Given the description of an element on the screen output the (x, y) to click on. 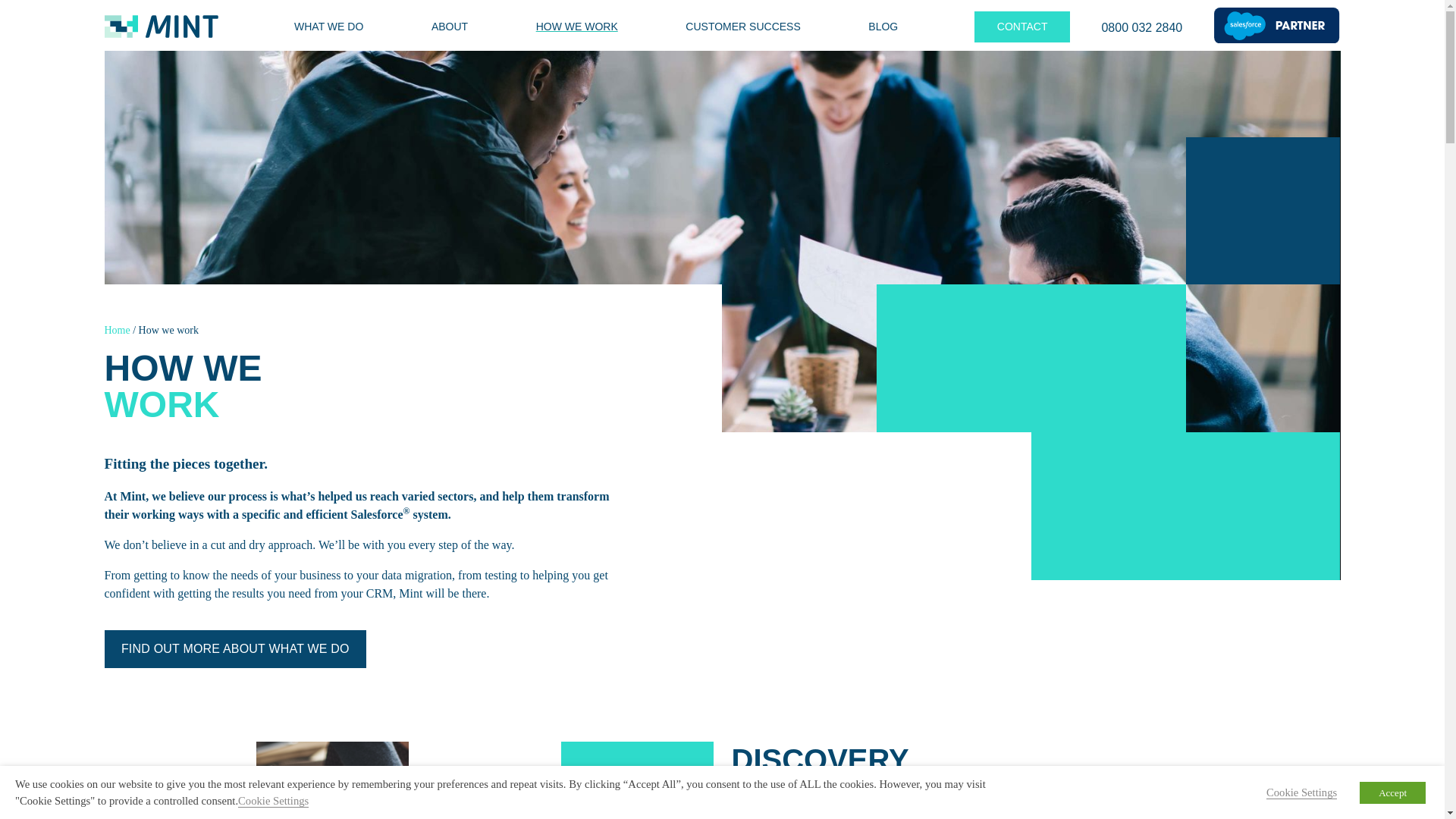
BLOG (882, 26)
CUSTOMER SUCCESS (742, 26)
0800 032 2840 (1141, 23)
WHAT WE DO (328, 26)
FIND OUT MORE ABOUT WHAT WE DO (235, 648)
ABOUT (448, 26)
CONTACT (1022, 26)
Home (117, 329)
HOW WE WORK (576, 26)
Cookie Settings (273, 800)
